Given the description of an element on the screen output the (x, y) to click on. 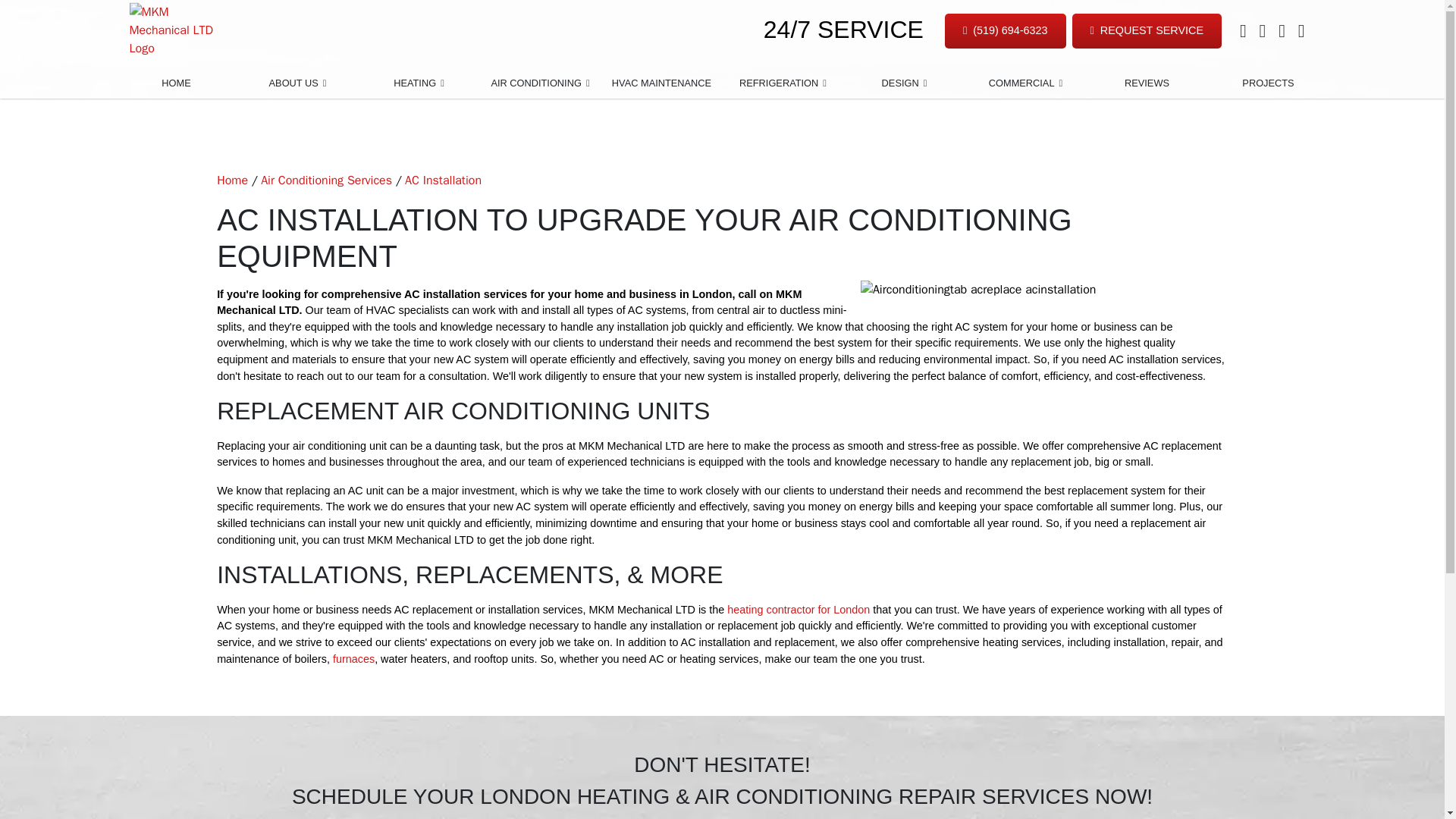
Home (231, 180)
Air Conditioning Services (325, 180)
AC Installation (442, 180)
